Given the description of an element on the screen output the (x, y) to click on. 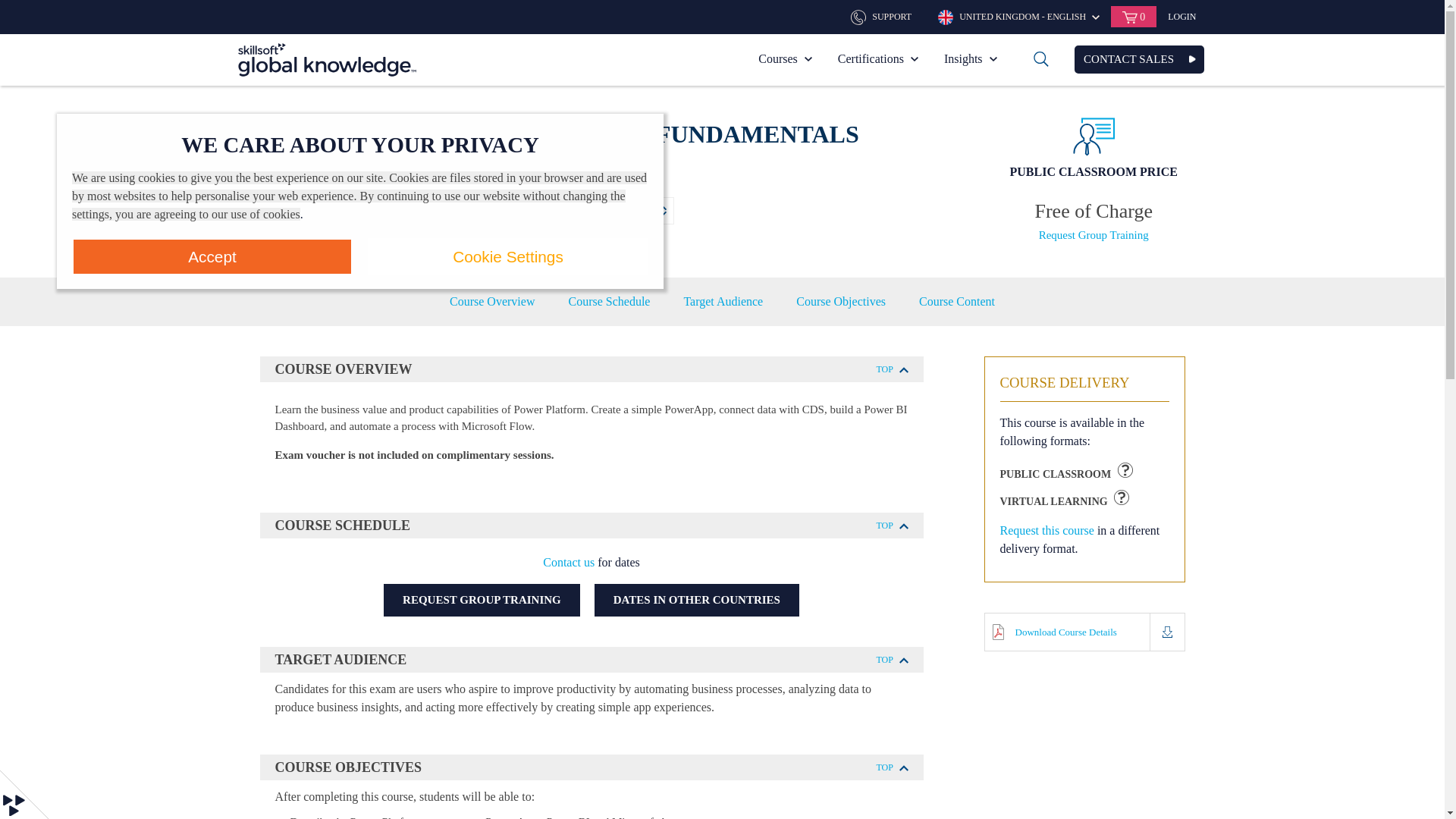
SUPPORT (883, 16)
UNITED KINGDOM - ENGLISH (1018, 16)
LOGIN (1181, 16)
0 (1133, 16)
Courses (785, 58)
